Given the description of an element on the screen output the (x, y) to click on. 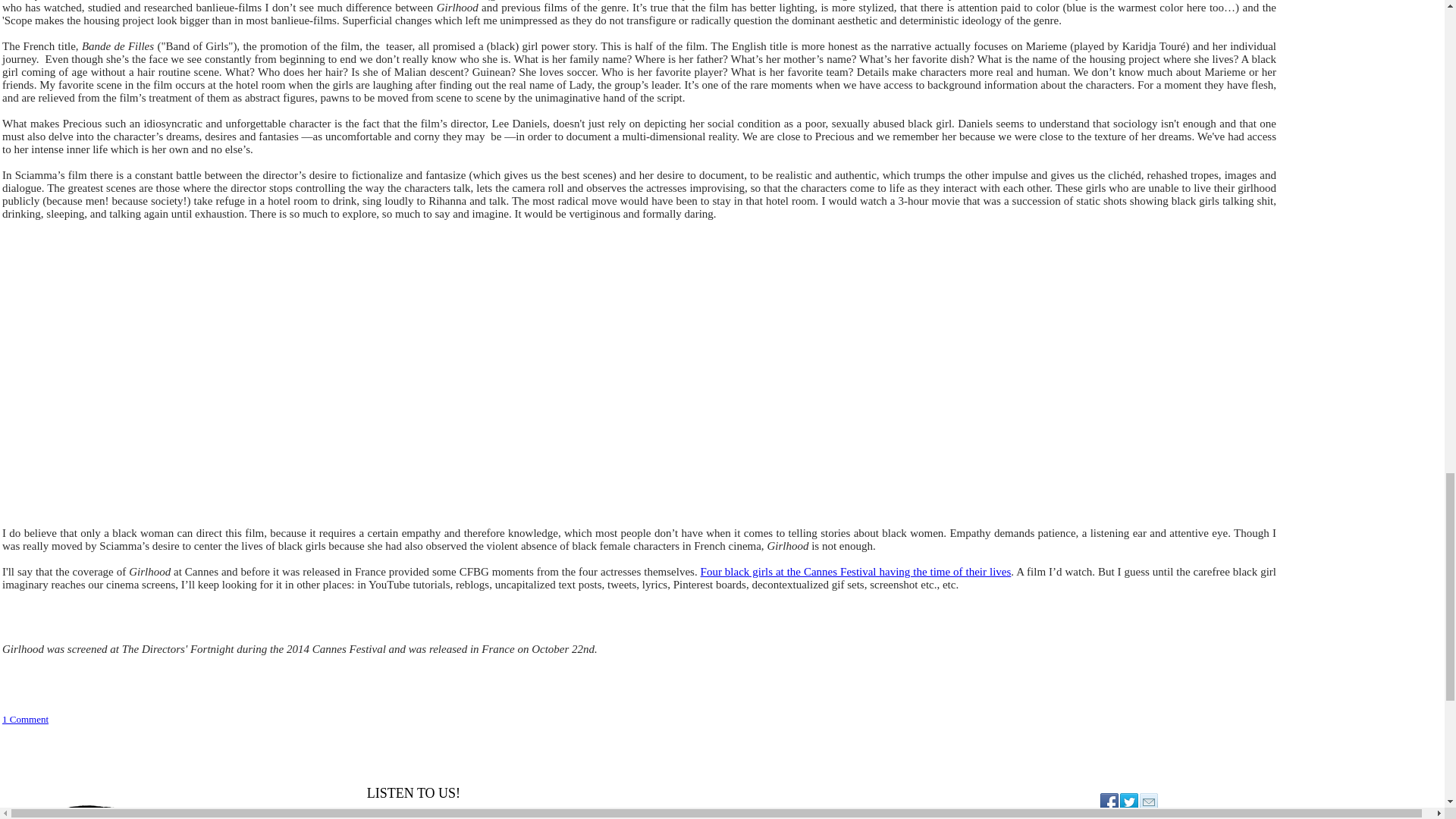
1 Comment (25, 718)
interviews (66, 0)
ITUNES (390, 816)
